Given the description of an element on the screen output the (x, y) to click on. 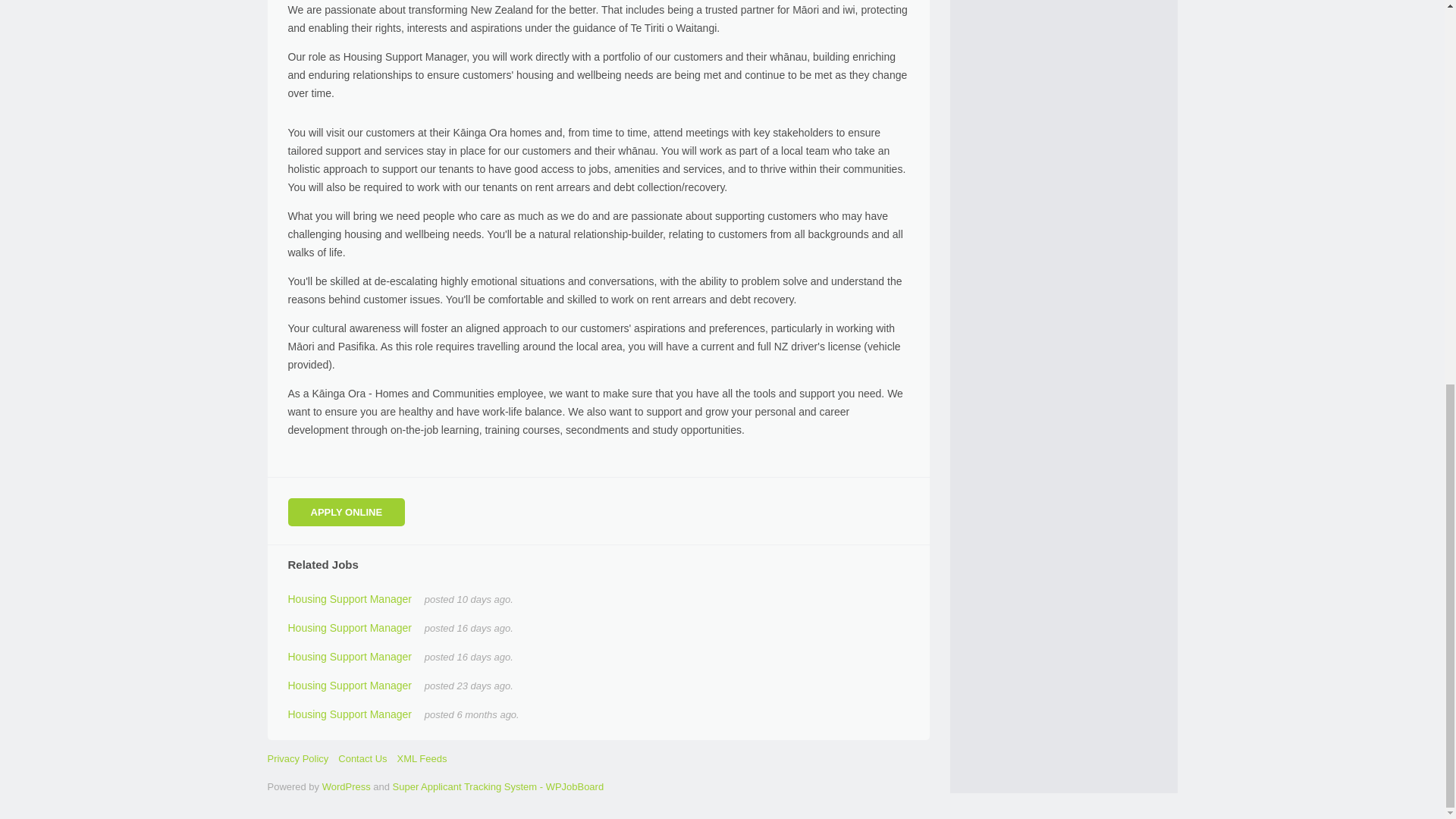
Housing Support Manager (350, 685)
Housing Support Manager (350, 598)
Contact Us (362, 758)
XML Feeds (421, 758)
WordPress (346, 786)
Housing Support Manager (350, 656)
Housing Support Manager (350, 714)
Housing Support Manager (350, 627)
APPLY ONLINE (347, 511)
Super Applicant Tracking System - WPJobBoard (498, 786)
Privacy Policy (297, 758)
